Given the description of an element on the screen output the (x, y) to click on. 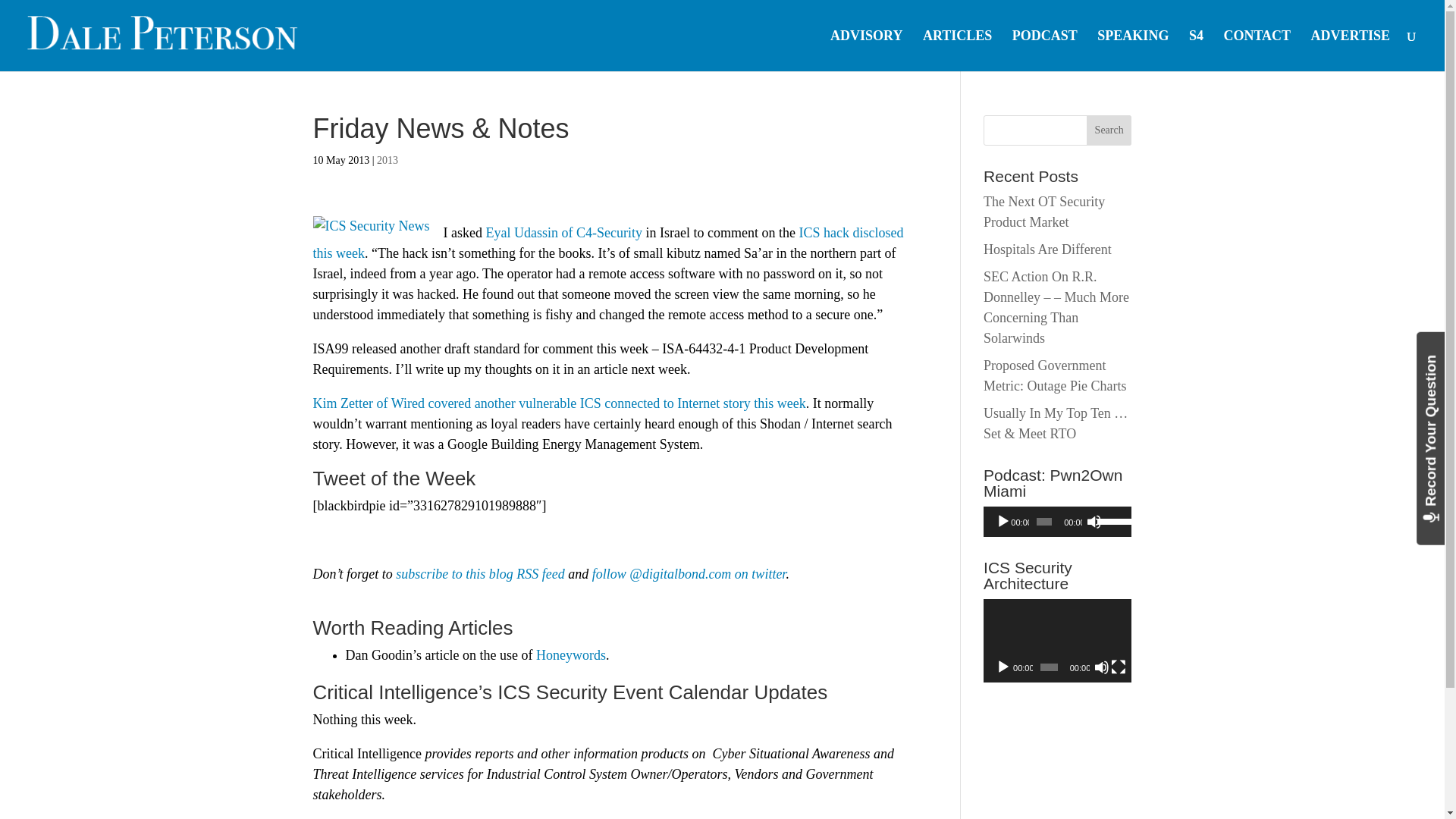
Play (1002, 667)
2013 (387, 160)
ADVERTISE (1350, 50)
Hospitals Are Different (1048, 249)
Fullscreen (1117, 667)
ICS hack disclosed this week (607, 243)
Mute (1094, 521)
Eyal Udassin of C4-Security (563, 232)
CONTACT (1256, 50)
Proposed Government Metric: Outage Pie Charts (1054, 375)
Play (1002, 521)
ARTICLES (957, 50)
Mute (1101, 667)
Search (1109, 130)
